Given the description of an element on the screen output the (x, y) to click on. 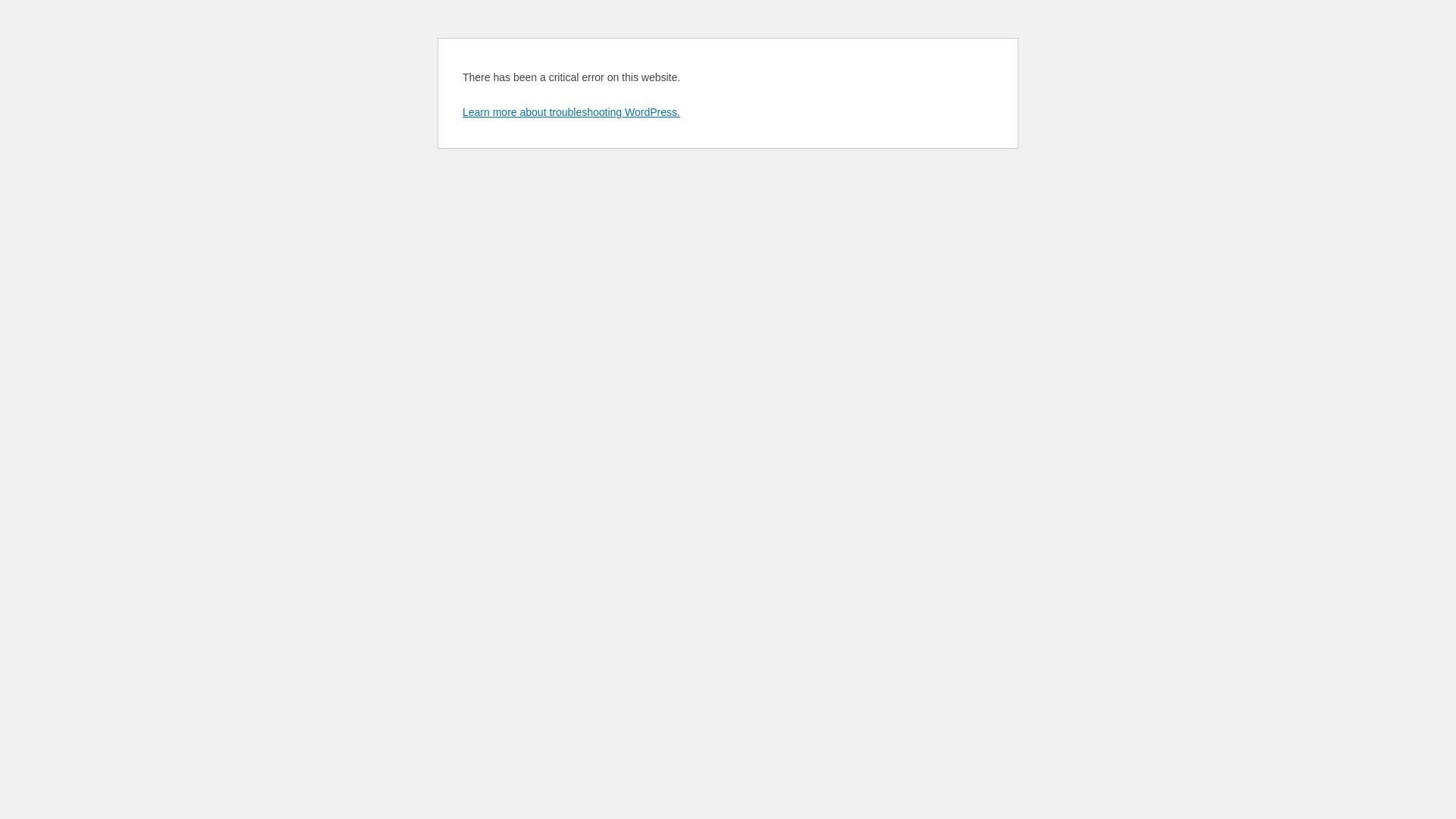
Learn more about troubleshooting WordPress. Element type: text (571, 112)
